Given the description of an element on the screen output the (x, y) to click on. 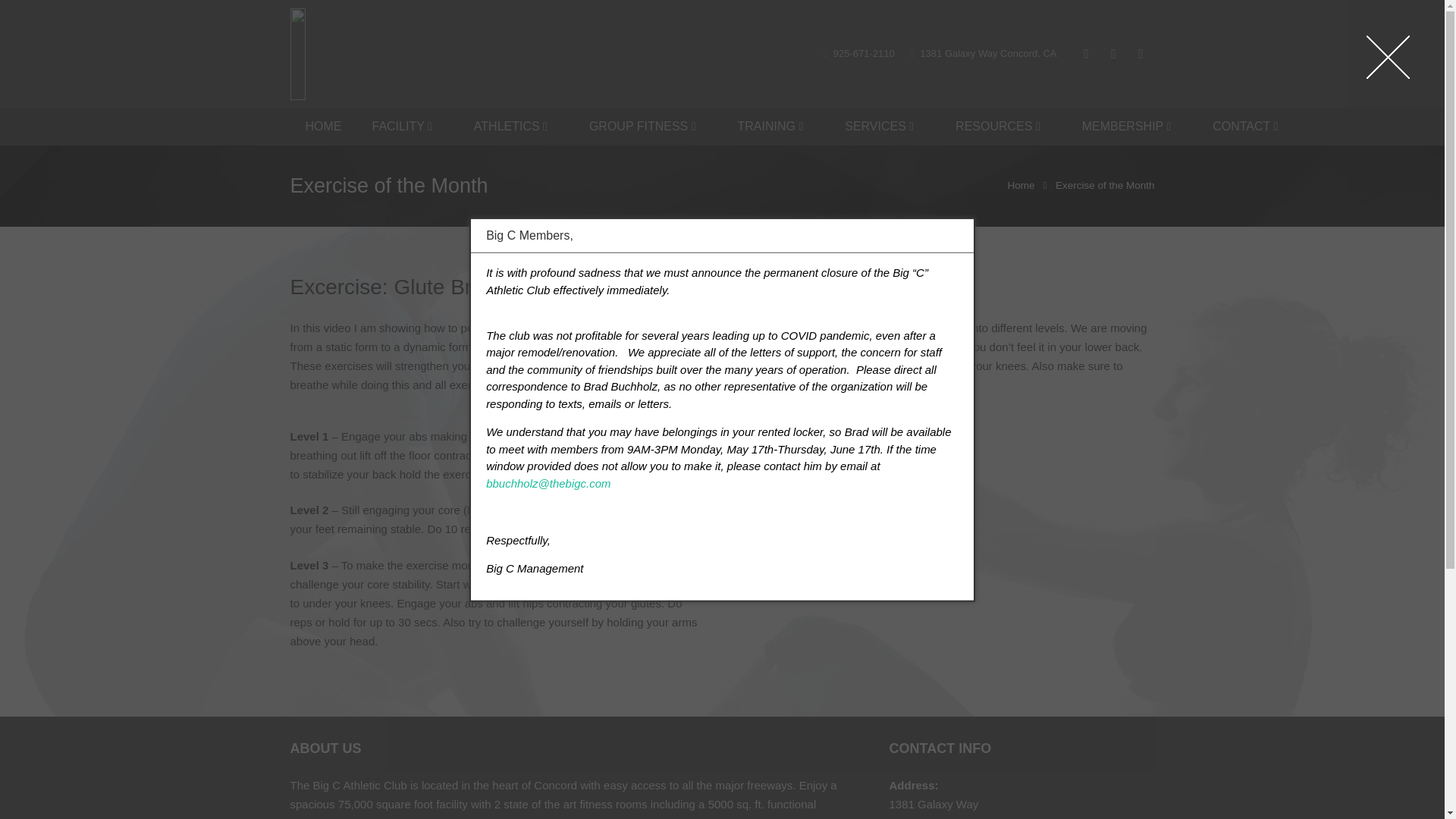
FACILITY (407, 126)
HOME (322, 126)
ATHLETICS (515, 126)
RESOURCES (1003, 126)
GROUP FITNESS (647, 126)
TRAINING (775, 126)
SERVICES (884, 126)
